Given the description of an element on the screen output the (x, y) to click on. 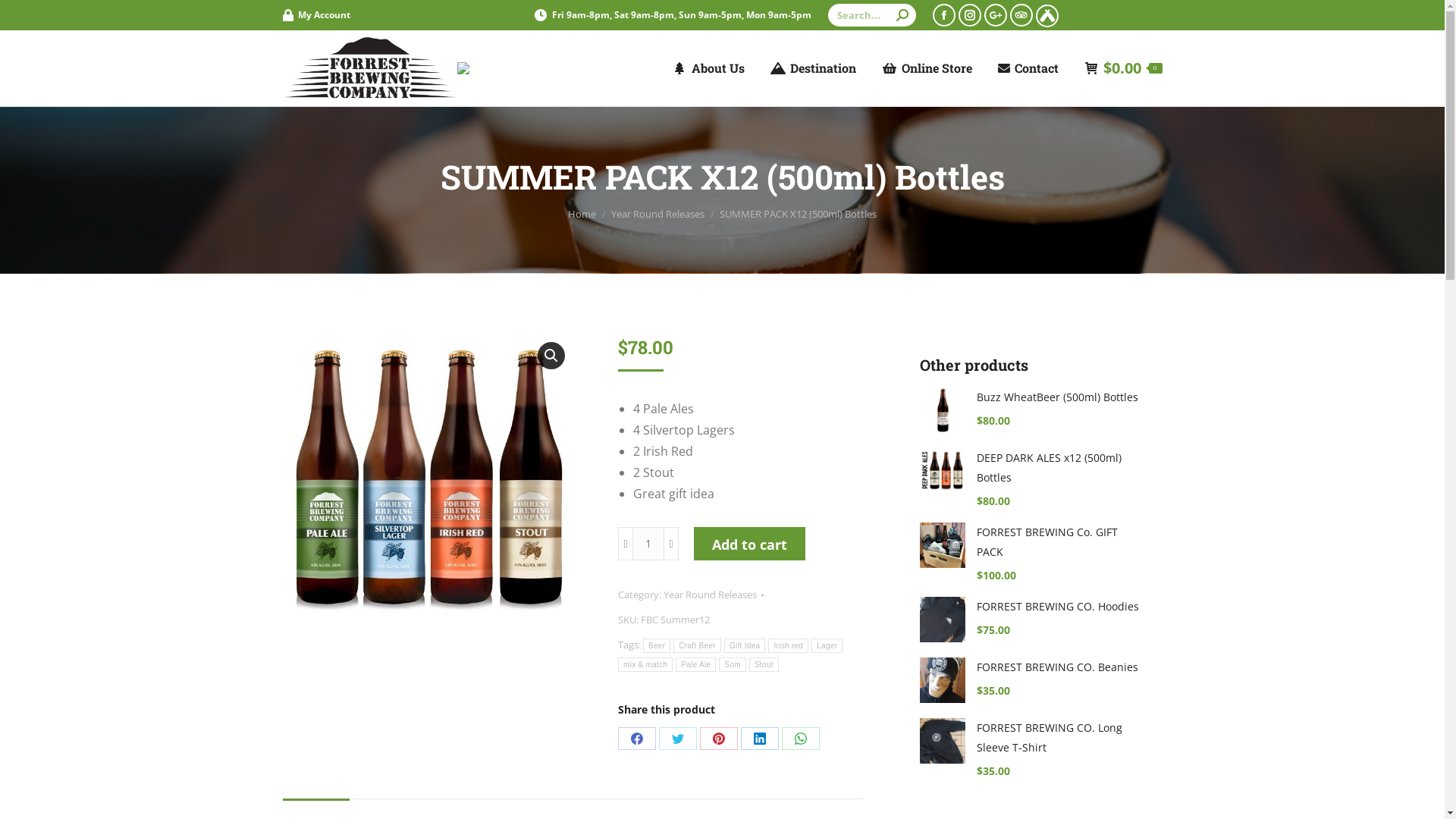
About Us Element type: text (707, 67)
Facebook page opens in new window Element type: text (943, 14)
Craft Beer Element type: text (697, 645)
Year Round Releases Element type: text (709, 594)
Go! Element type: text (23, 16)
Instagram page opens in new window Element type: text (969, 14)
500px page opens in new window Element type: text (995, 14)
DEEP DARK ALES x12 (500ml) Bottles Element type: text (1059, 467)
Stout Element type: text (763, 664)
FORREST BREWING CO. Hoodies Element type: text (1059, 606)
Search form Element type: hover (871, 15)
Groupproduct-yearround Element type: hover (427, 479)
Buzz WheatBeer (500ml) Bottles Element type: text (1059, 397)
Share on Pinterest Element type: text (718, 738)
Destination Element type: text (813, 67)
mix & match Element type: text (645, 664)
Share on Facebook Element type: text (636, 738)
Share on LinkedIn Element type: text (759, 738)
Home Element type: text (581, 212)
FORREST BREWING CO. Long Sleeve T-Shirt Element type: text (1059, 737)
$0.00
0 Element type: text (1123, 68)
Qty Element type: hover (648, 543)
FORREST BREWING CO. Beanies Element type: text (1059, 667)
Lager Element type: text (826, 645)
Som Element type: text (731, 664)
Pale Ale Element type: text (695, 664)
Online Store Element type: text (926, 67)
Add to cart Element type: text (749, 543)
Untappd Element type: text (1117, 14)
Share on WhatsApp Element type: text (800, 738)
FORREST BREWING Co. GIFT PACK Element type: text (1059, 541)
Beer Element type: text (656, 645)
Contact Element type: text (1027, 67)
Share on Twitter Element type: text (677, 738)
My Account Element type: text (315, 14)
Untappd page opens in new window Element type: text (1046, 15)
Irish red Element type: text (788, 645)
TripAdvisor page opens in new window Element type: text (1021, 14)
Year Round Releases Element type: text (657, 212)
Gift Idea Element type: text (744, 645)
